Given the description of an element on the screen output the (x, y) to click on. 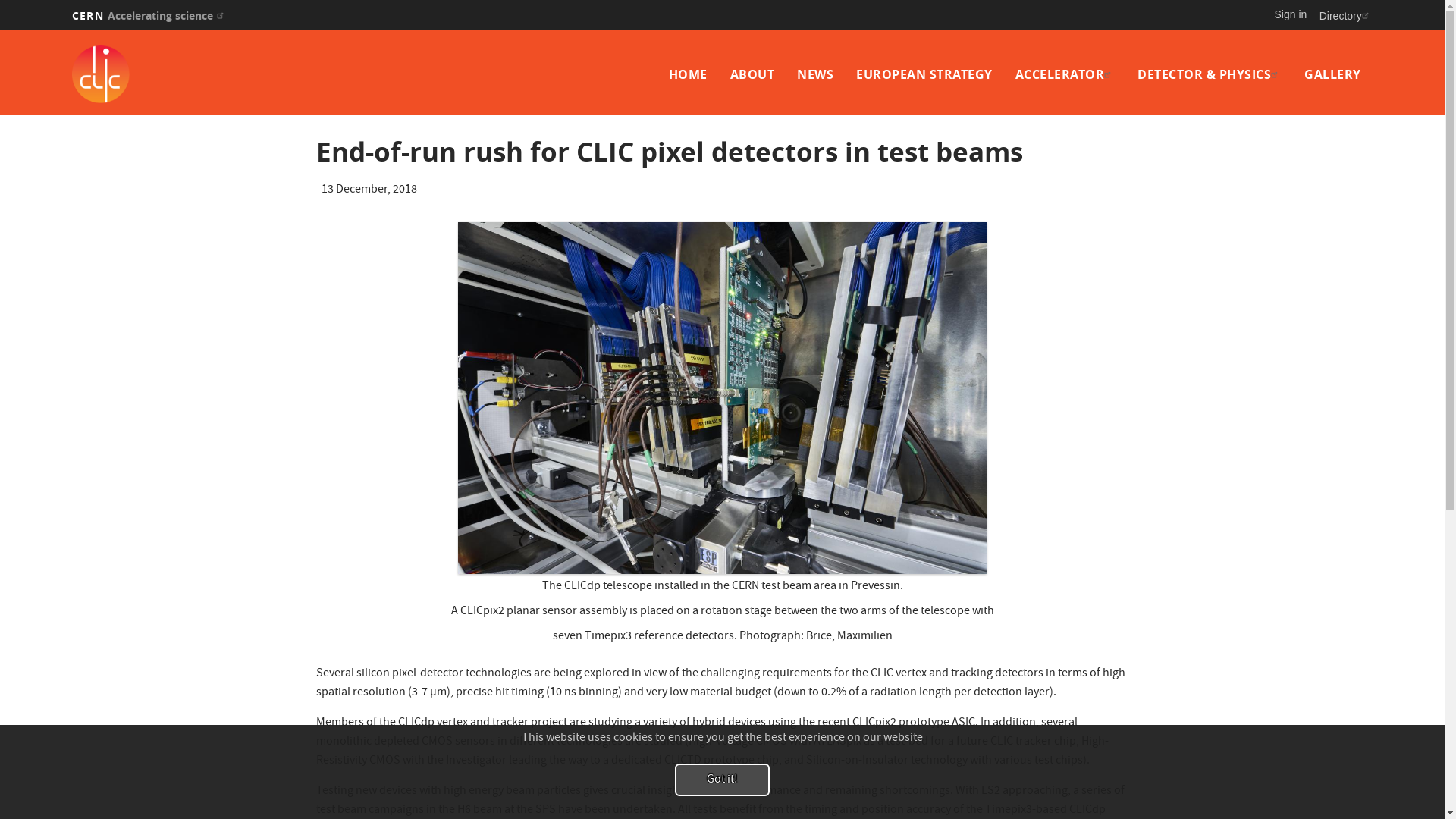
HOME Element type: text (687, 74)
GALLERY Element type: text (1332, 74)
NEWS Element type: text (815, 74)
DETECTOR & PHYSICS(LINK IS EXTERNAL) Element type: text (1209, 74)
ABOUT Element type: text (752, 74)
Directory(link is external) Element type: text (1345, 14)
Sign in Element type: text (1290, 14)
Got it! Element type: text (721, 779)
Home Element type: hover (230, 74)
CERN Accelerating science (link is external) Element type: text (149, 14)
Skip to main content Element type: text (0, 30)
ACCELERATOR(LINK IS EXTERNAL) Element type: text (1065, 74)
EUROPEAN STRATEGY Element type: text (924, 74)
